Given the description of an element on the screen output the (x, y) to click on. 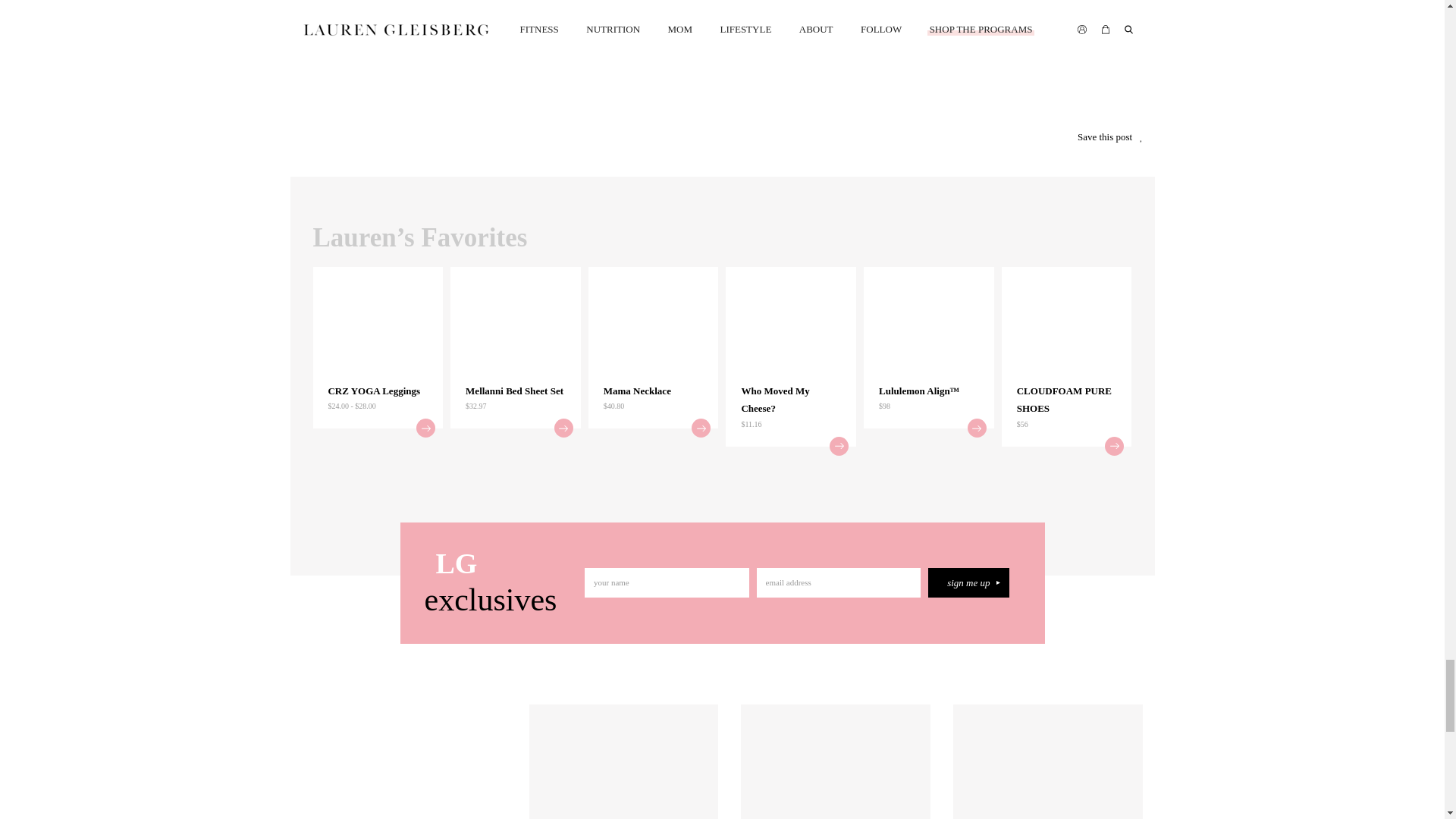
sign me up (968, 582)
